Given the description of an element on the screen output the (x, y) to click on. 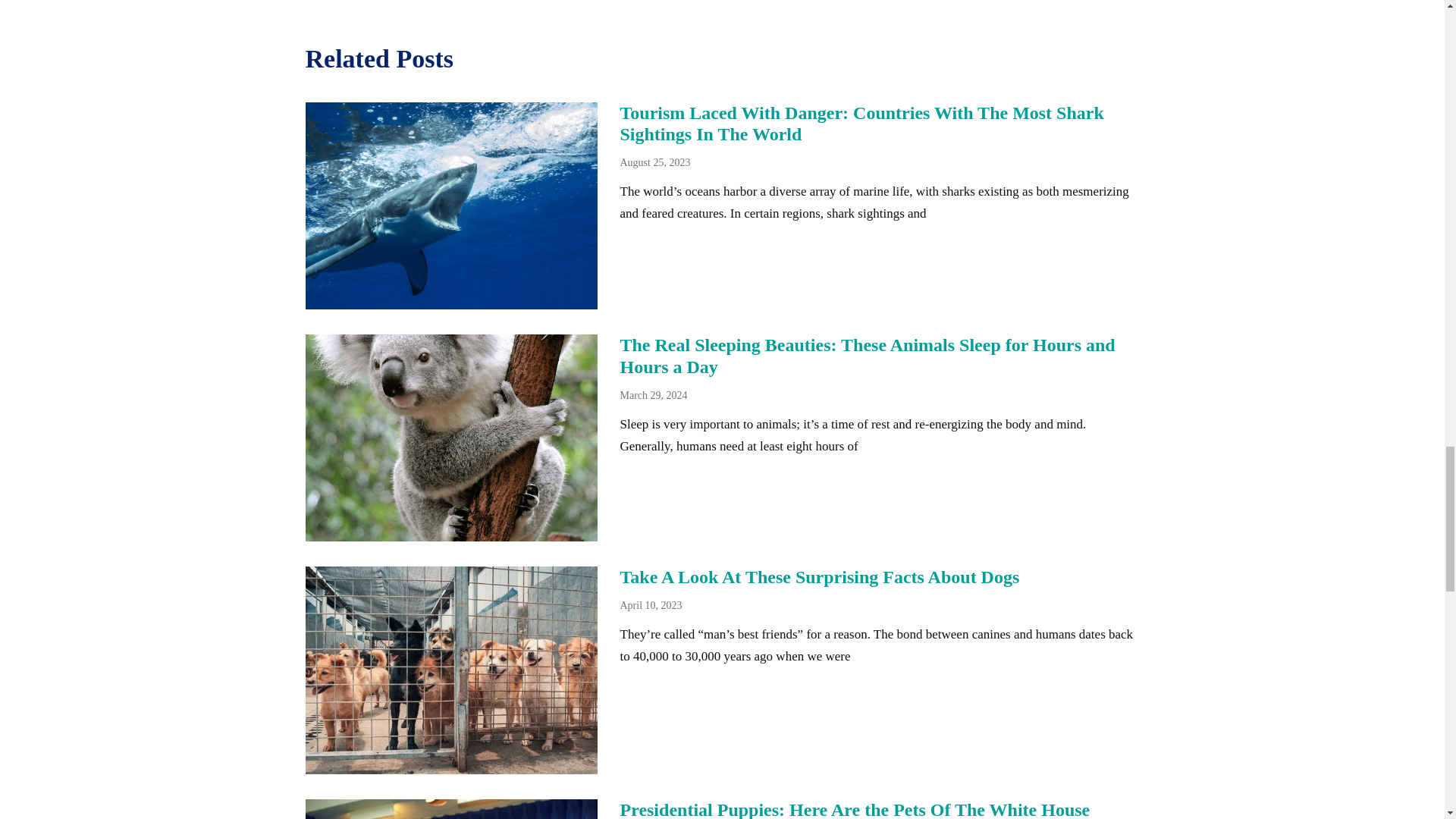
Take A Look At These Surprising Facts About Dogs (820, 577)
